Given the description of an element on the screen output the (x, y) to click on. 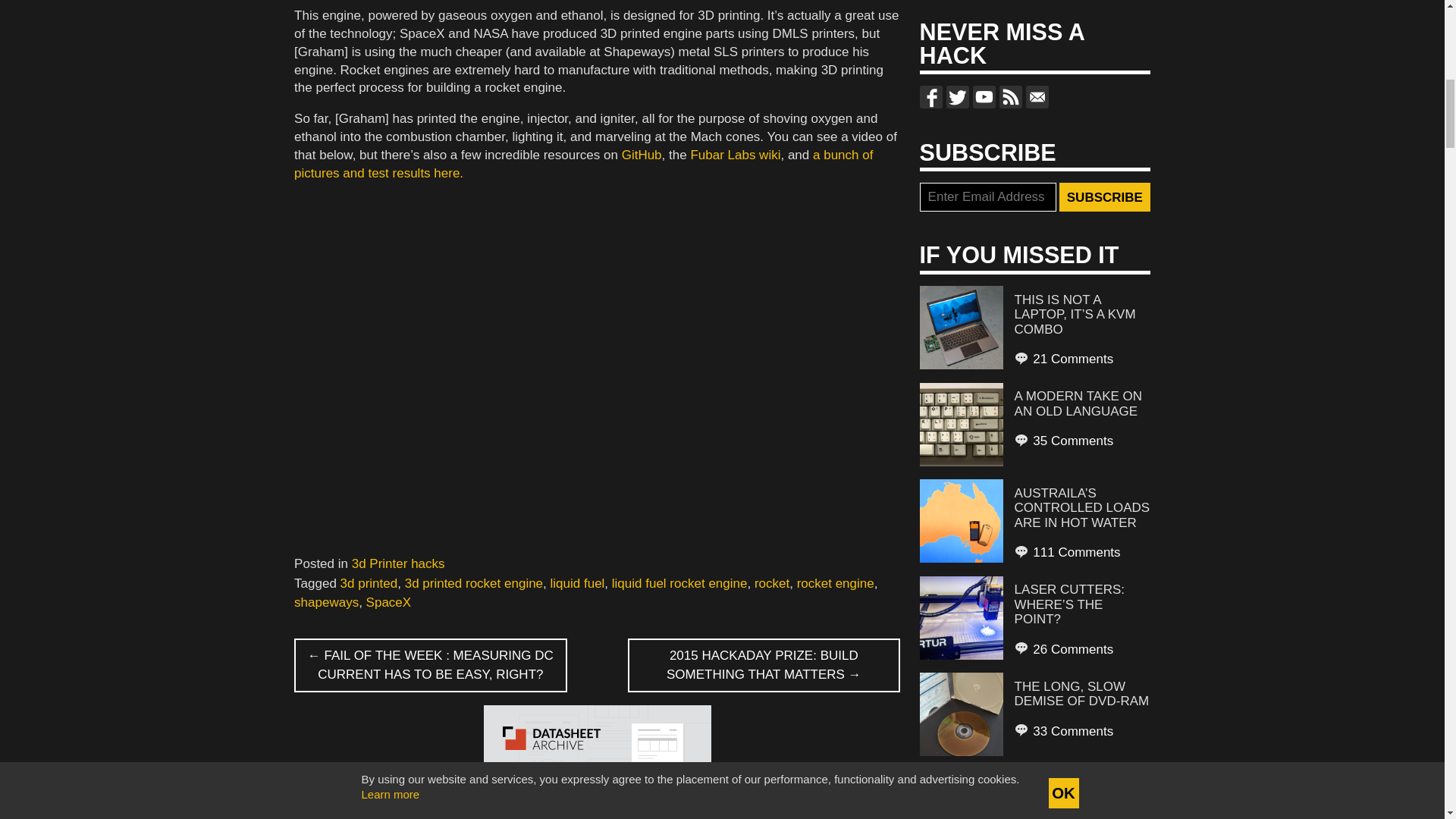
3d printed (368, 583)
SpaceX (389, 602)
liquid fuel (577, 583)
Subscribe (1104, 196)
3d printed rocket engine (473, 583)
shapeways (326, 602)
rocket (771, 583)
liquid fuel rocket engine (679, 583)
a bunch of pictures and test results here. (583, 164)
